Given the description of an element on the screen output the (x, y) to click on. 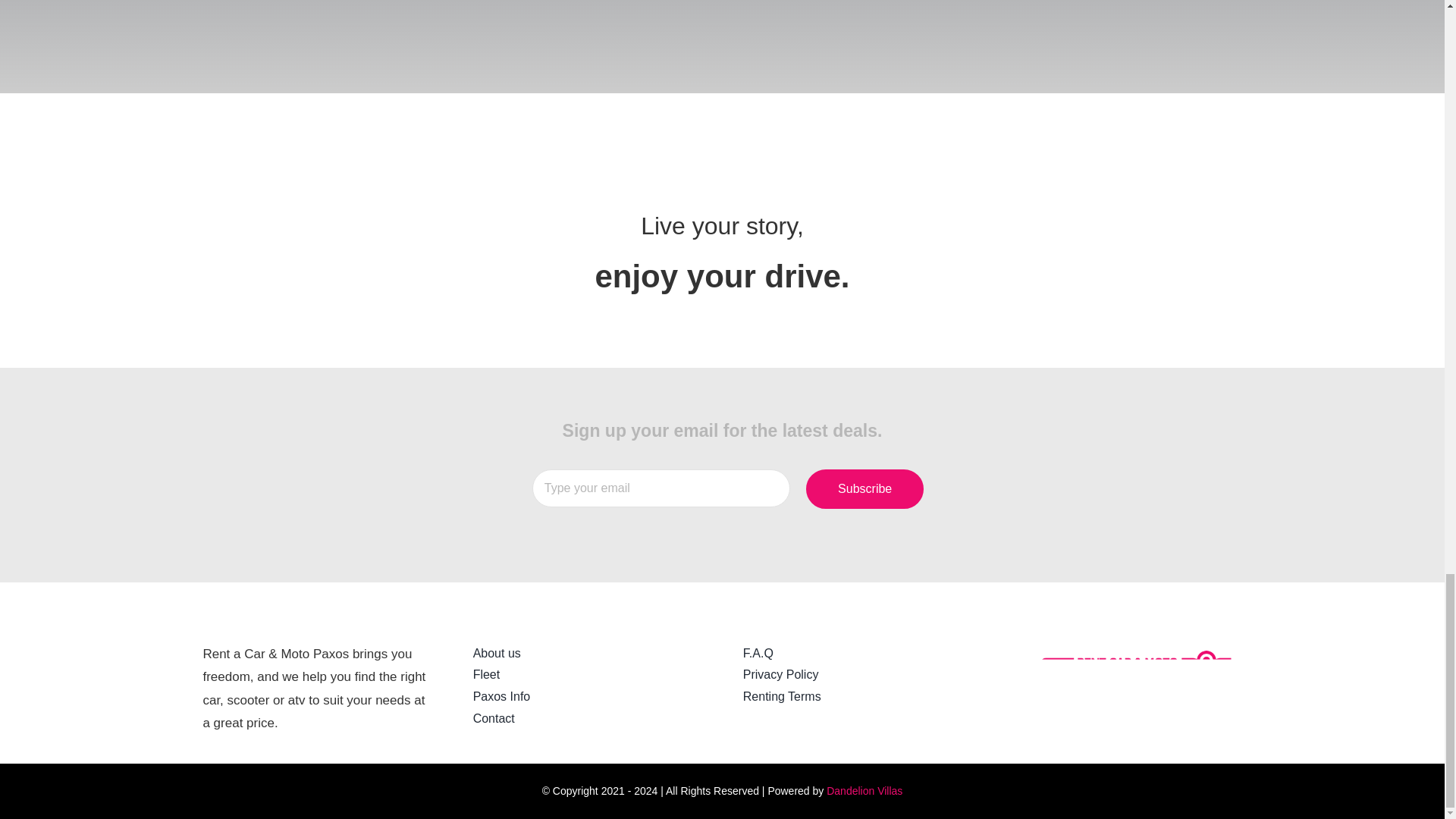
Renting Terms (857, 697)
websitelogoy (1127, 682)
Paxos Info (587, 697)
Subscribe (864, 488)
About us (587, 653)
Privacy Policy (857, 675)
Subscribe (864, 488)
Dandelion Villas (864, 790)
F.A.Q (857, 653)
Contact (587, 719)
